Given the description of an element on the screen output the (x, y) to click on. 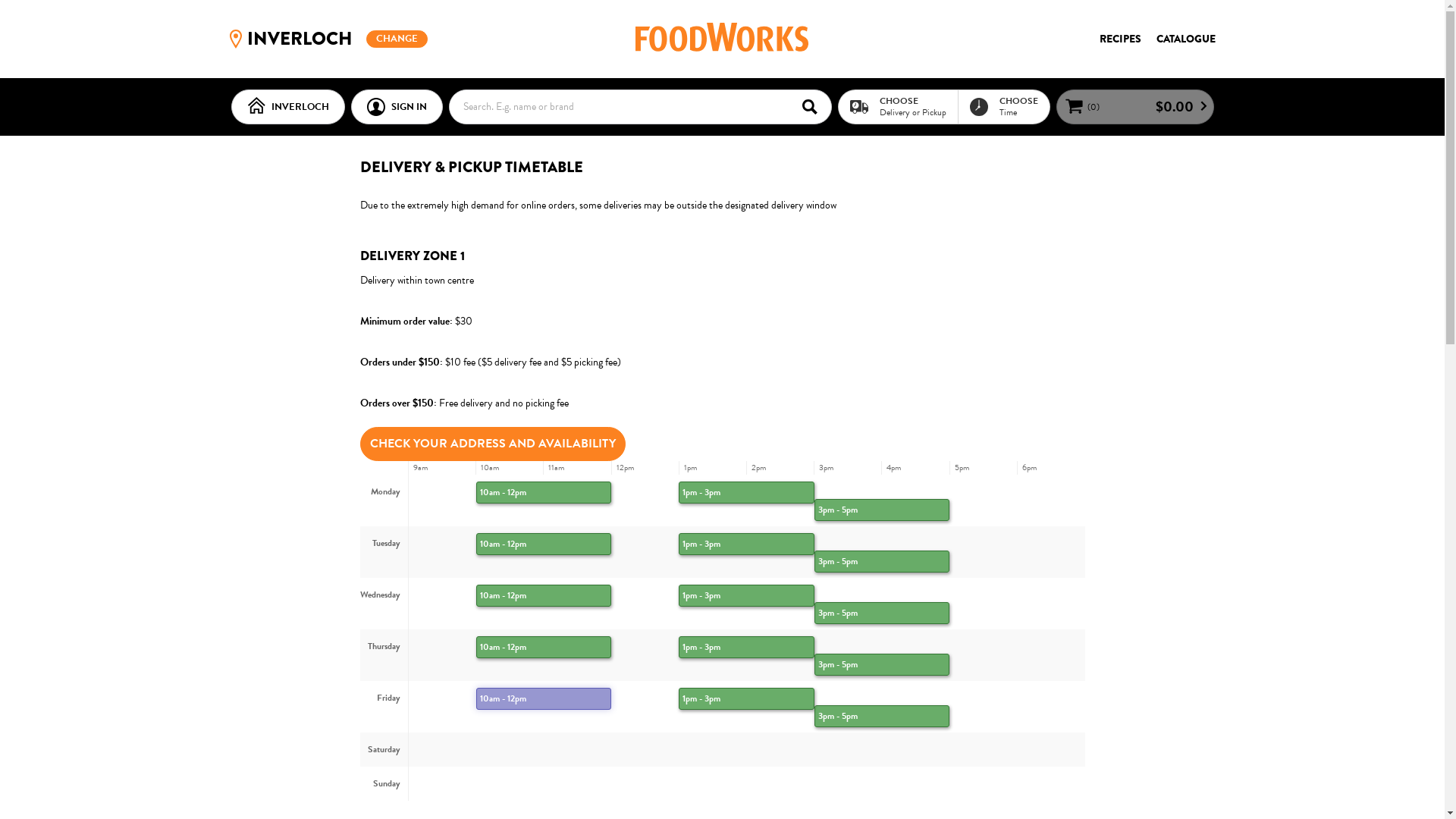
Search Element type: hover (814, 105)
CATALOGUE Element type: text (1184, 38)
(0)
$0.00 Element type: text (1134, 106)
CHECK YOUR ADDRESS AND AVAILABILITY Element type: text (491, 443)
CHOOSE
Delivery or Pickup Element type: text (897, 105)
INVERLOCH Element type: text (287, 106)
CHOOSE
Time Element type: text (1002, 105)
RECIPES Element type: text (1120, 38)
SIGN IN Element type: text (396, 106)
CHANGE Element type: text (396, 38)
